Given the description of an element on the screen output the (x, y) to click on. 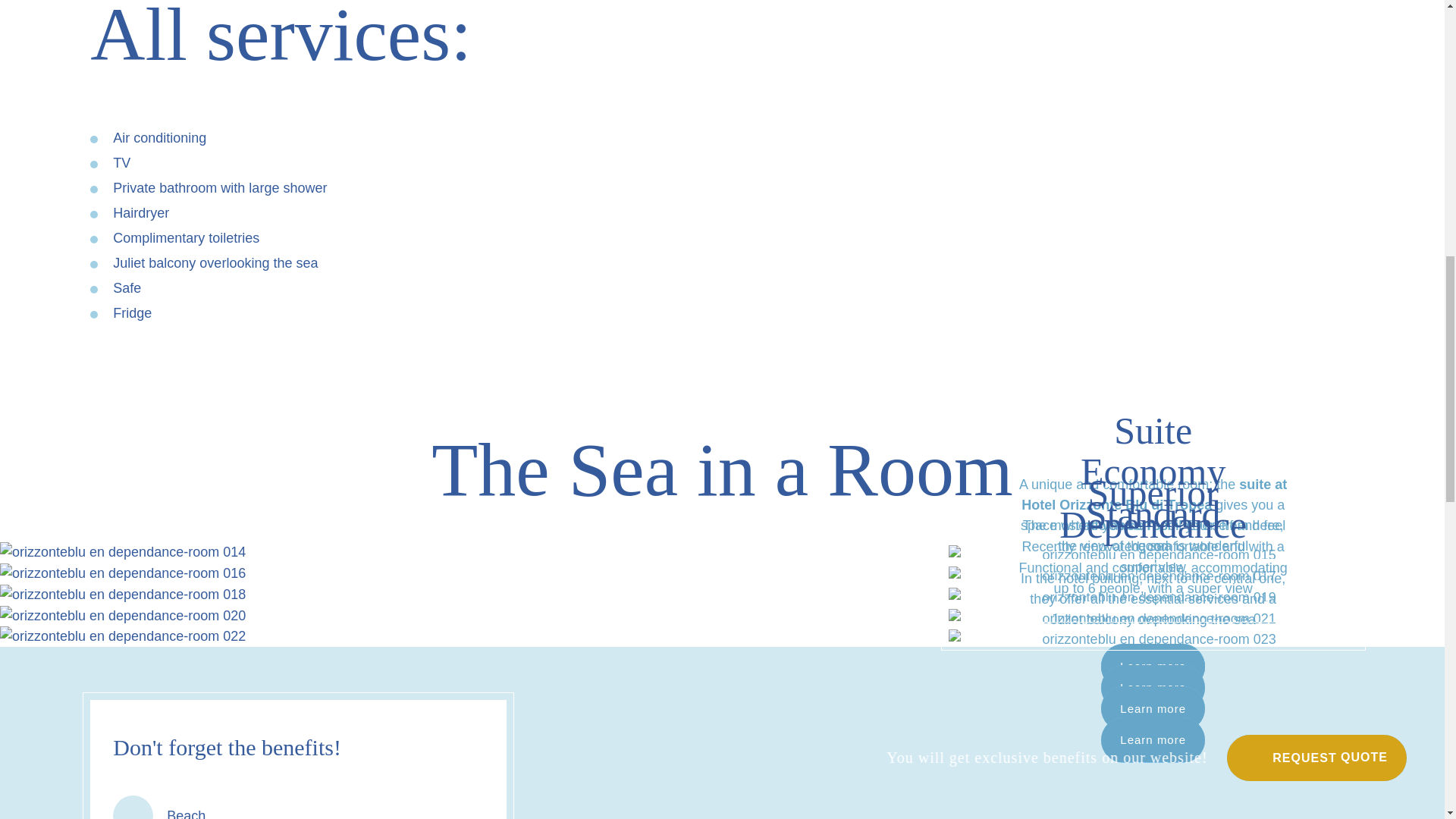
Learn more (1152, 666)
Learn more (1152, 708)
Learn more (1152, 687)
Learn more (1152, 665)
Learn more (1152, 739)
